Given the description of an element on the screen output the (x, y) to click on. 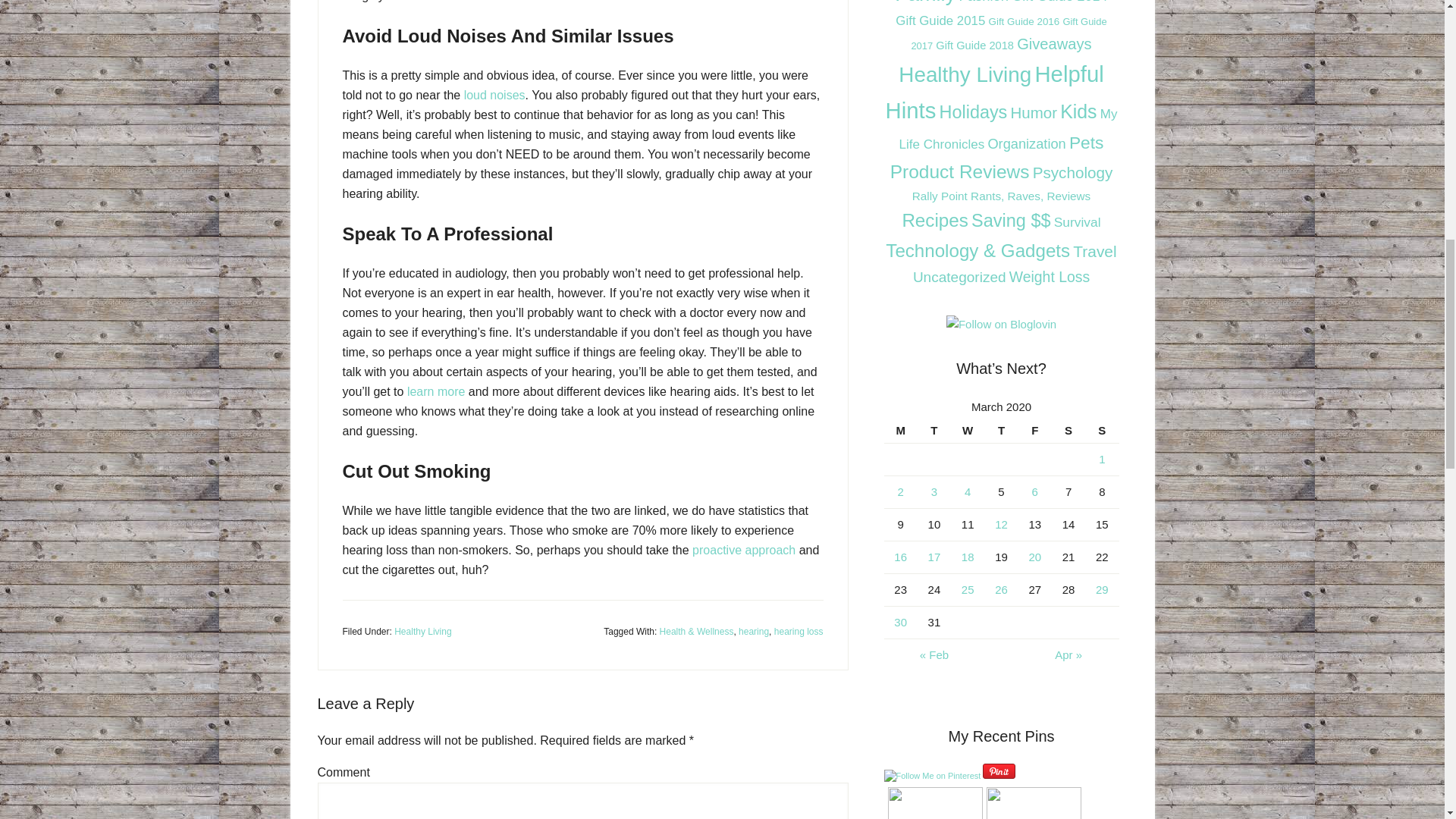
Tuesday (933, 430)
hearing (753, 631)
loud noises (494, 94)
Sunday (1101, 430)
Fashion (983, 2)
hearing loss (799, 631)
proactive approach (743, 549)
Gift Guide 2016 (1023, 21)
Friday (1034, 430)
Wednesday (967, 430)
Healthy Living (422, 631)
Gift Guide 2014 (1058, 2)
Thursday (1000, 430)
Gift Guide 2015 (940, 20)
learn more (435, 391)
